Given the description of an element on the screen output the (x, y) to click on. 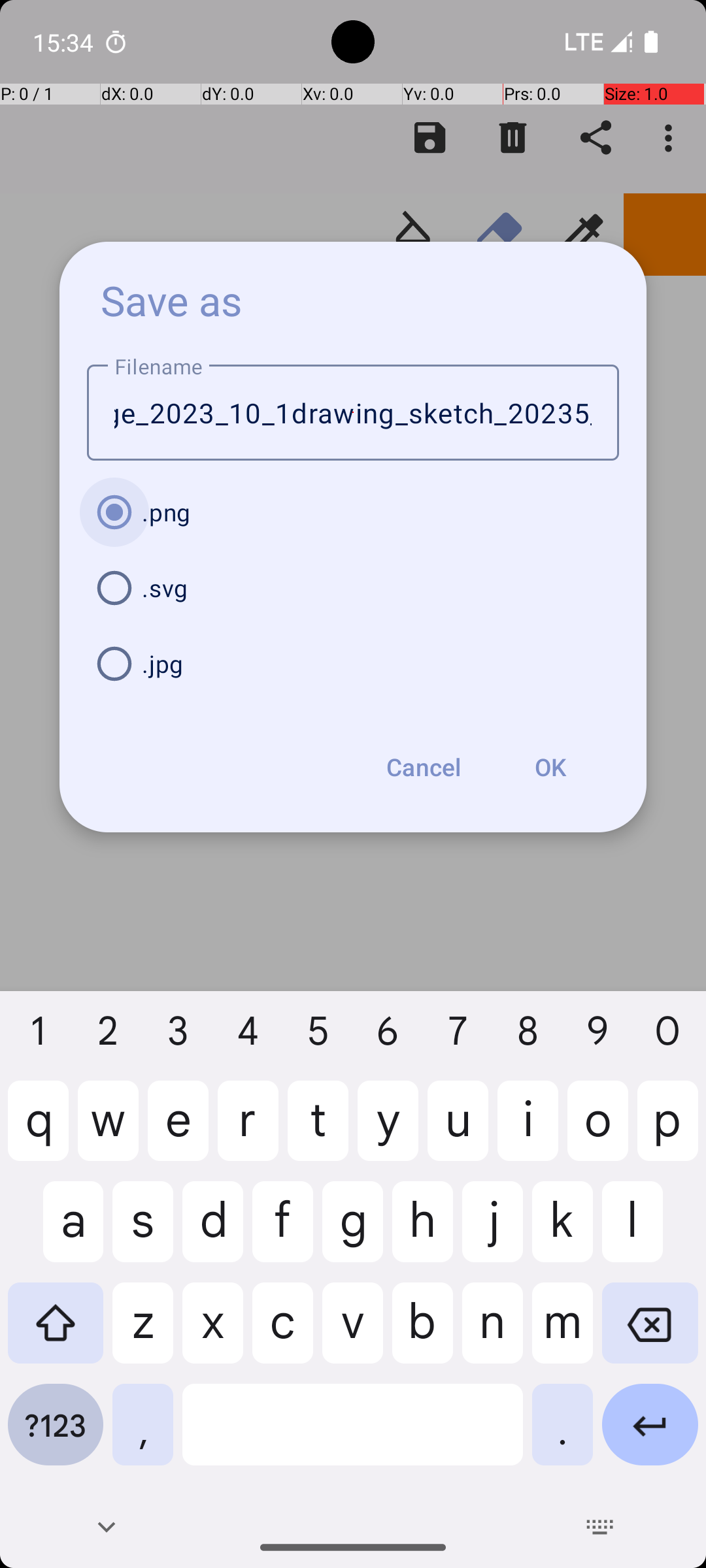
Save as Element type: android.widget.TextView (171, 299)
image_2023_10_1drawing_sketch_20235_15_34_11 Element type: android.widget.EditText (352, 412)
.png Element type: android.widget.RadioButton (352, 512)
.svg Element type: android.widget.RadioButton (352, 587)
.jpg Element type: android.widget.RadioButton (352, 663)
